Given the description of an element on the screen output the (x, y) to click on. 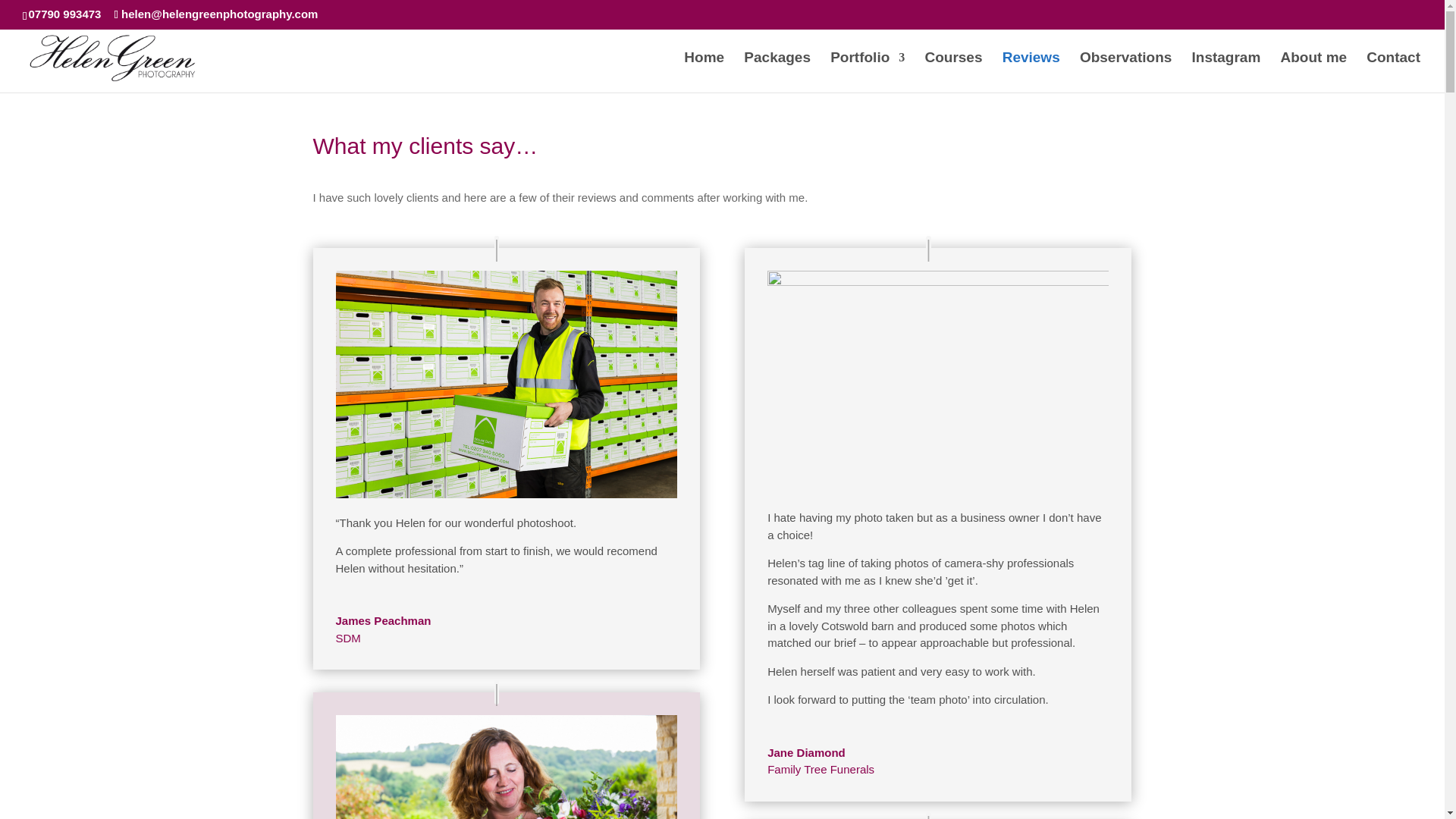
Observations (1126, 72)
Home (703, 72)
Packages (777, 72)
Courses (952, 72)
Instagram (1226, 72)
Portfolio (866, 72)
Reviews (1031, 72)
Contact (1394, 72)
About me (1312, 72)
